Given the description of an element on the screen output the (x, y) to click on. 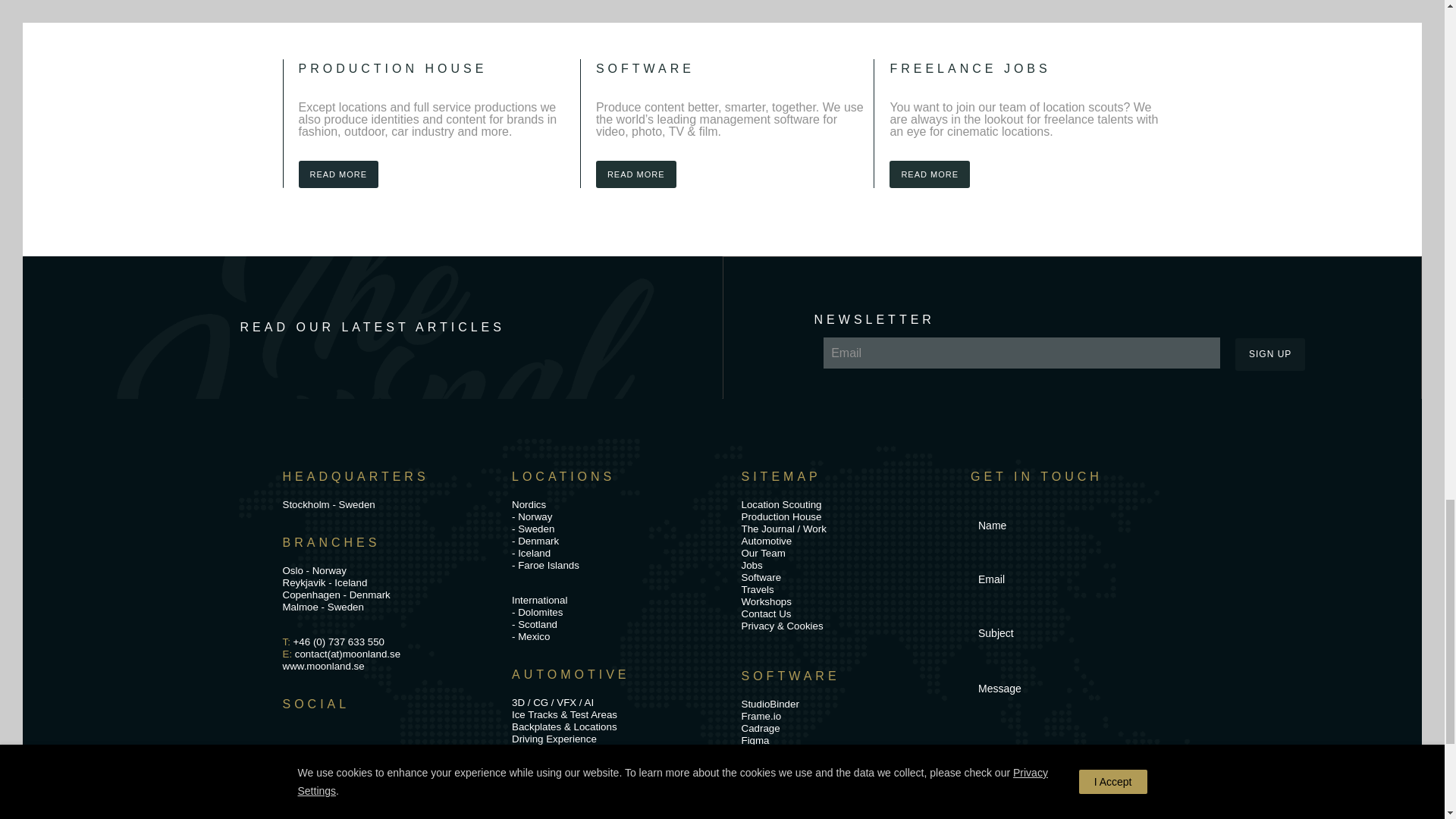
Sign up (1269, 354)
